Given the description of an element on the screen output the (x, y) to click on. 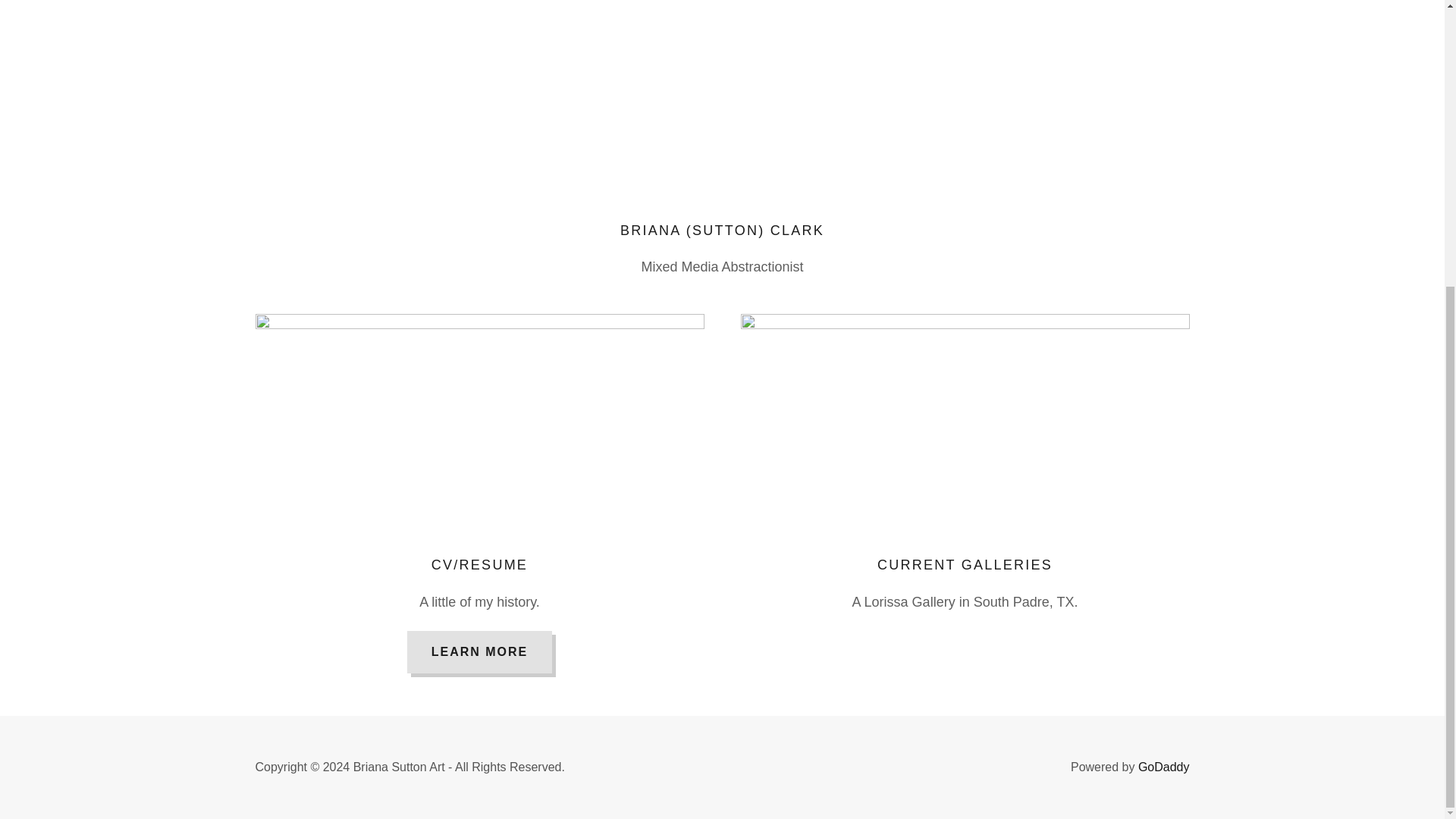
GoDaddy (1163, 766)
LEARN MORE (480, 651)
